Given the description of an element on the screen output the (x, y) to click on. 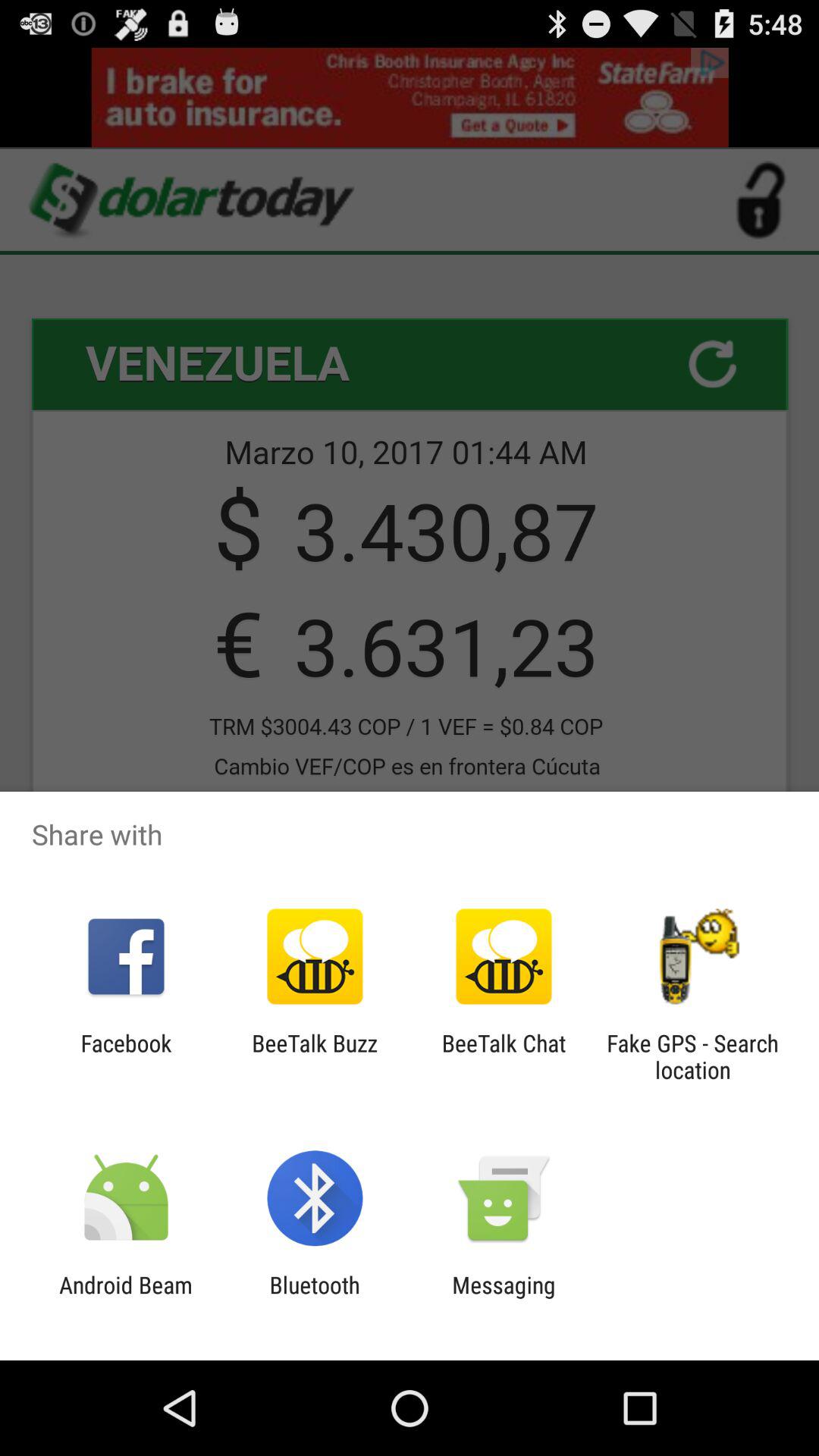
open icon to the left of beetalk chat icon (314, 1056)
